Given the description of an element on the screen output the (x, y) to click on. 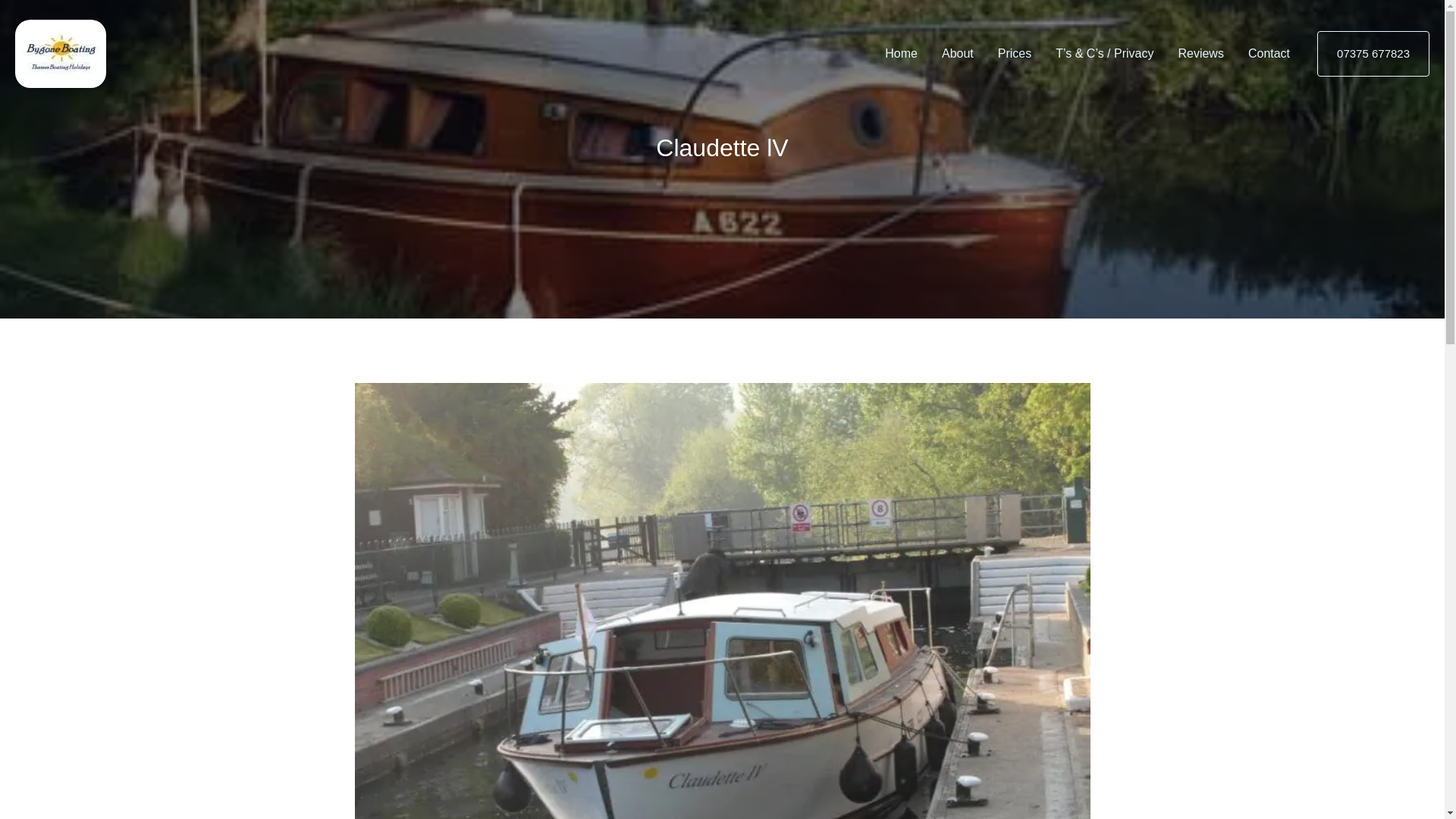
Contact (1268, 53)
Home (901, 53)
07375 677823 (1373, 53)
Reviews (1200, 53)
Prices (1014, 53)
About (957, 53)
